Given the description of an element on the screen output the (x, y) to click on. 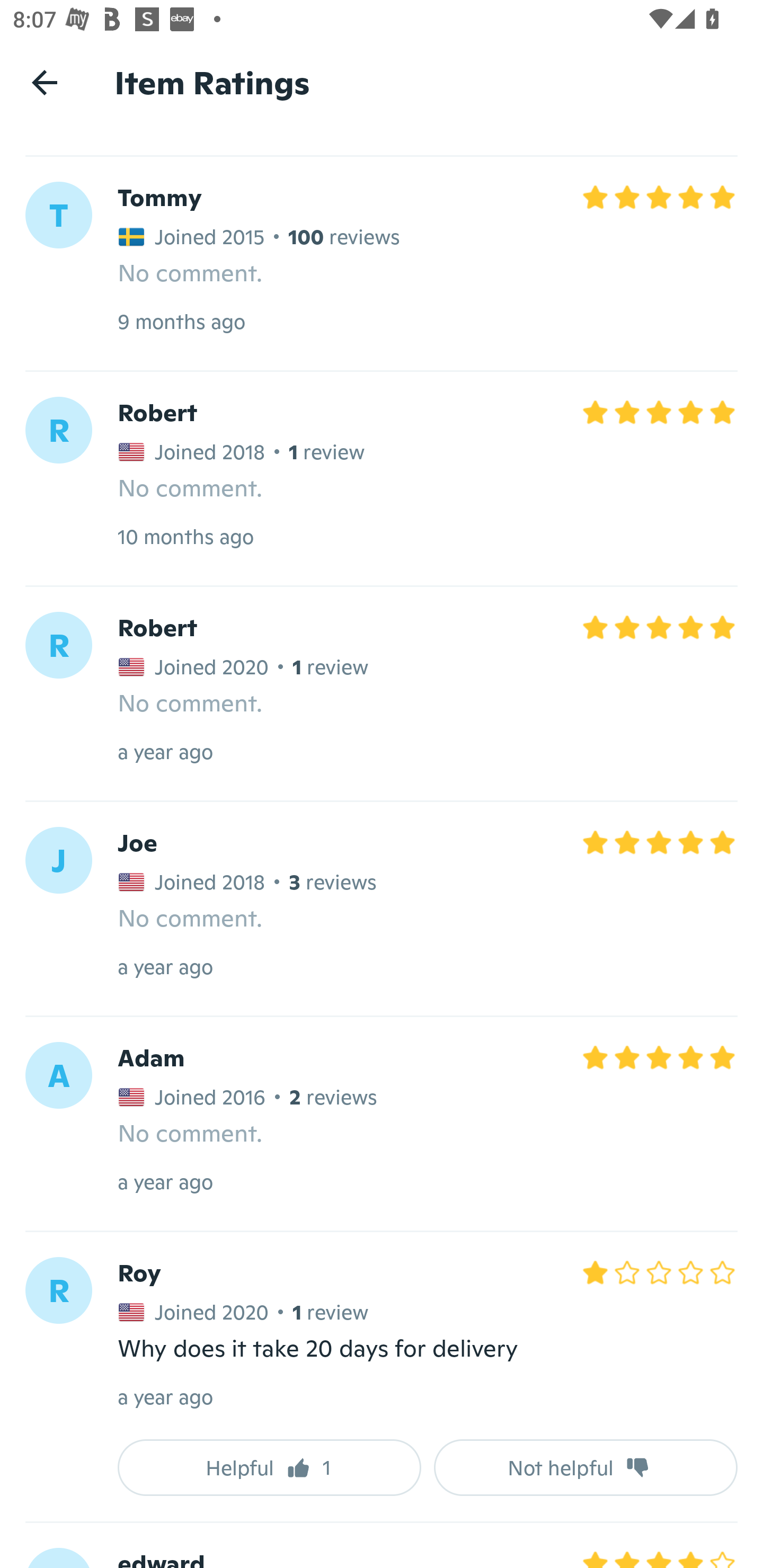
Navigate up (44, 82)
T (58, 214)
Tommy (159, 197)
9 months ago (181, 321)
R (58, 430)
Robert (156, 412)
10 months ago (185, 536)
R (58, 644)
Robert (156, 626)
a year ago (165, 751)
J (58, 859)
Joe (137, 842)
a year ago (165, 966)
A (58, 1075)
Adam (150, 1058)
a year ago (165, 1181)
R (58, 1290)
Roy (138, 1272)
a year ago (165, 1396)
Helpful 1 (269, 1467)
Not helpful (585, 1467)
